Given the description of an element on the screen output the (x, y) to click on. 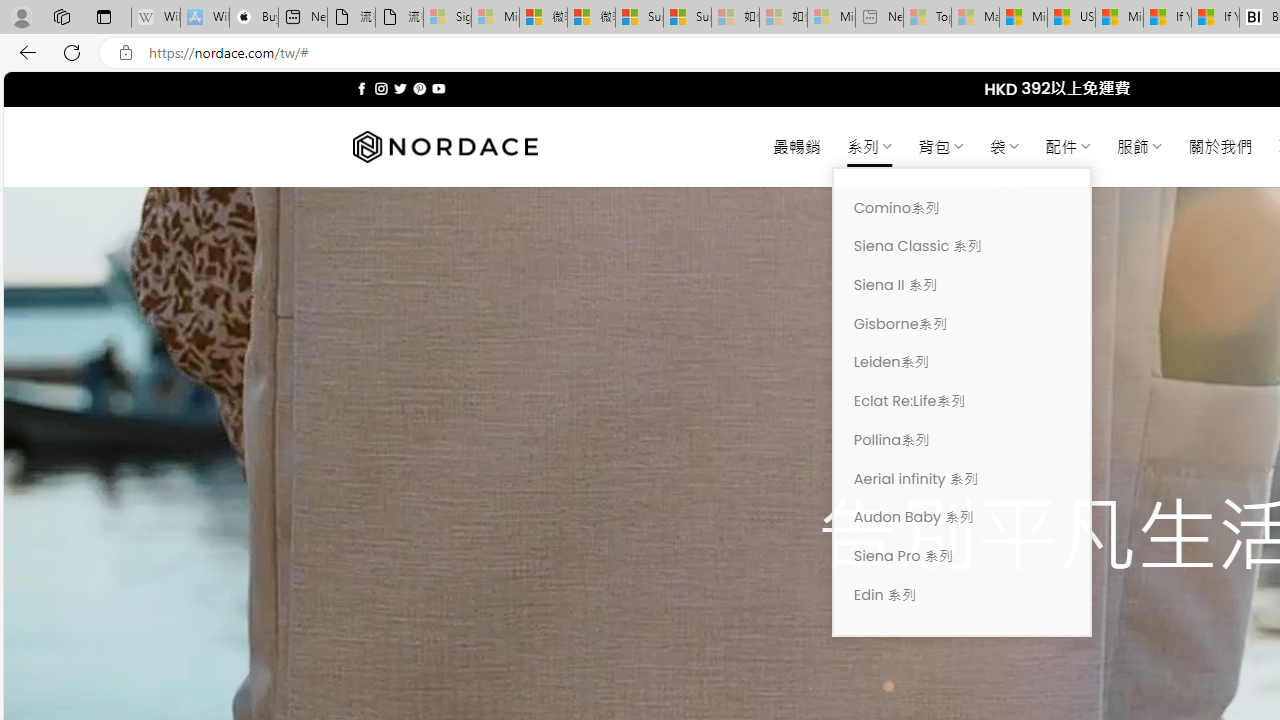
Follow on YouTube (438, 88)
Microsoft Services Agreement - Sleeping (495, 17)
